Given the description of an element on the screen output the (x, y) to click on. 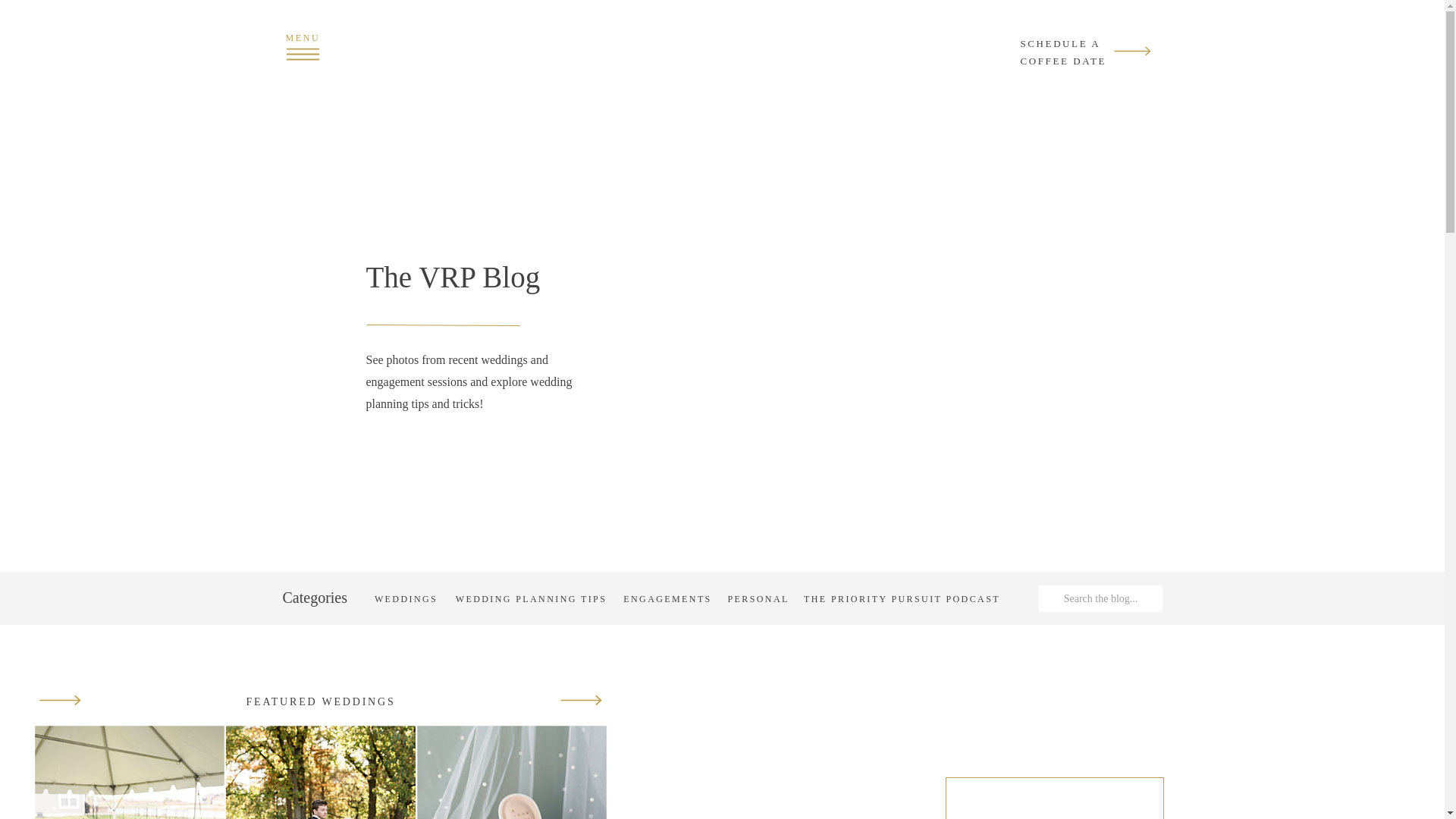
THE PRIORITY PURSUIT PODCAST (902, 598)
SCHEDULE A COFFEE DATE (1071, 51)
PERSONAL (758, 598)
ENGAGEMENTS (668, 598)
FEATURED WEDDINGS (321, 700)
WEDDING PLANNING TIPS (531, 598)
WEDDINGS (405, 598)
Categories (320, 598)
